Given the description of an element on the screen output the (x, y) to click on. 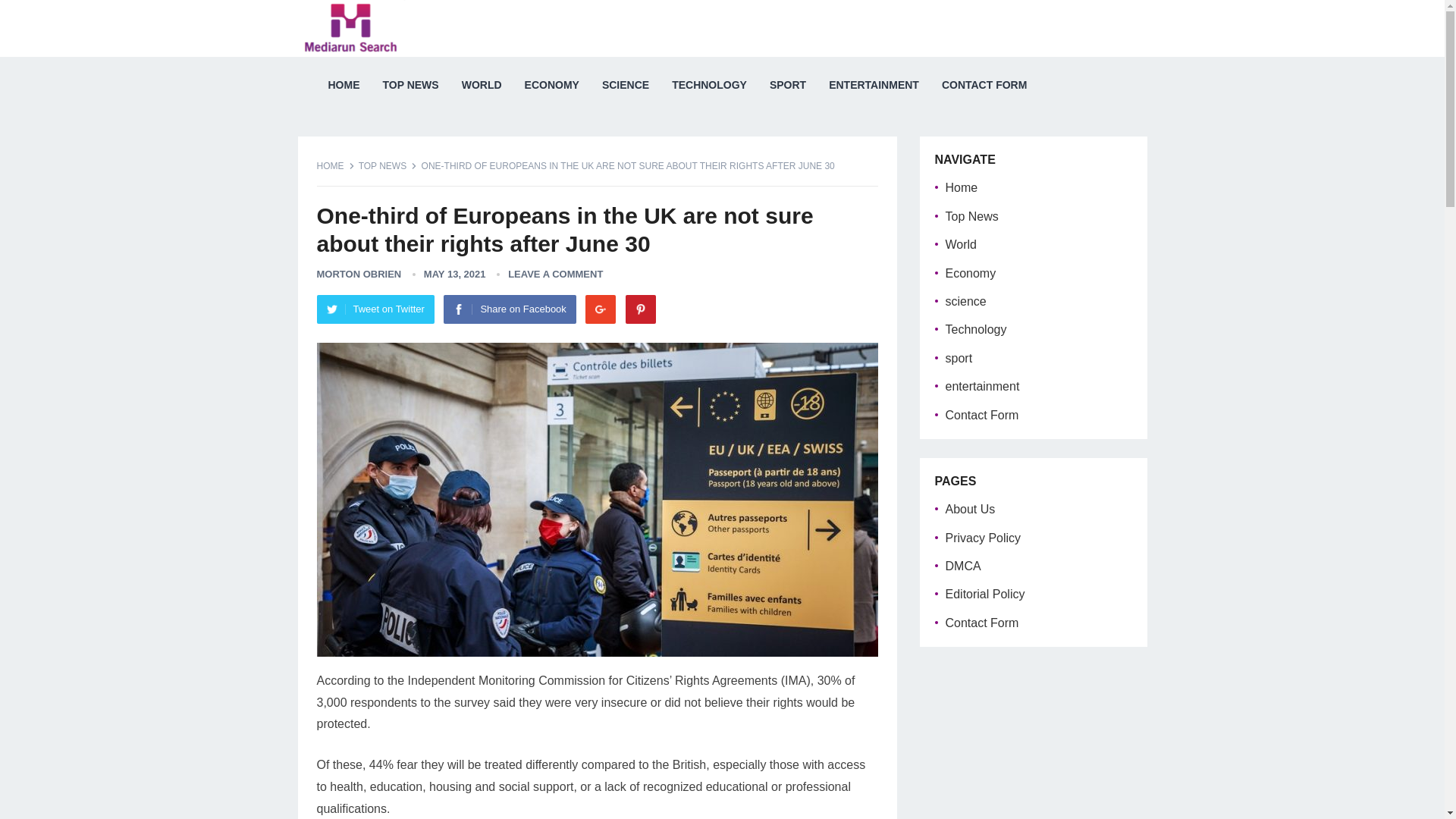
Share on Facebook (509, 308)
HOME (344, 84)
ENTERTAINMENT (873, 84)
Posts by Morton Obrien (359, 274)
HOME (336, 165)
TOP NEWS (387, 165)
CONTACT FORM (984, 84)
LEAVE A COMMENT (555, 274)
SCIENCE (626, 84)
